Given the description of an element on the screen output the (x, y) to click on. 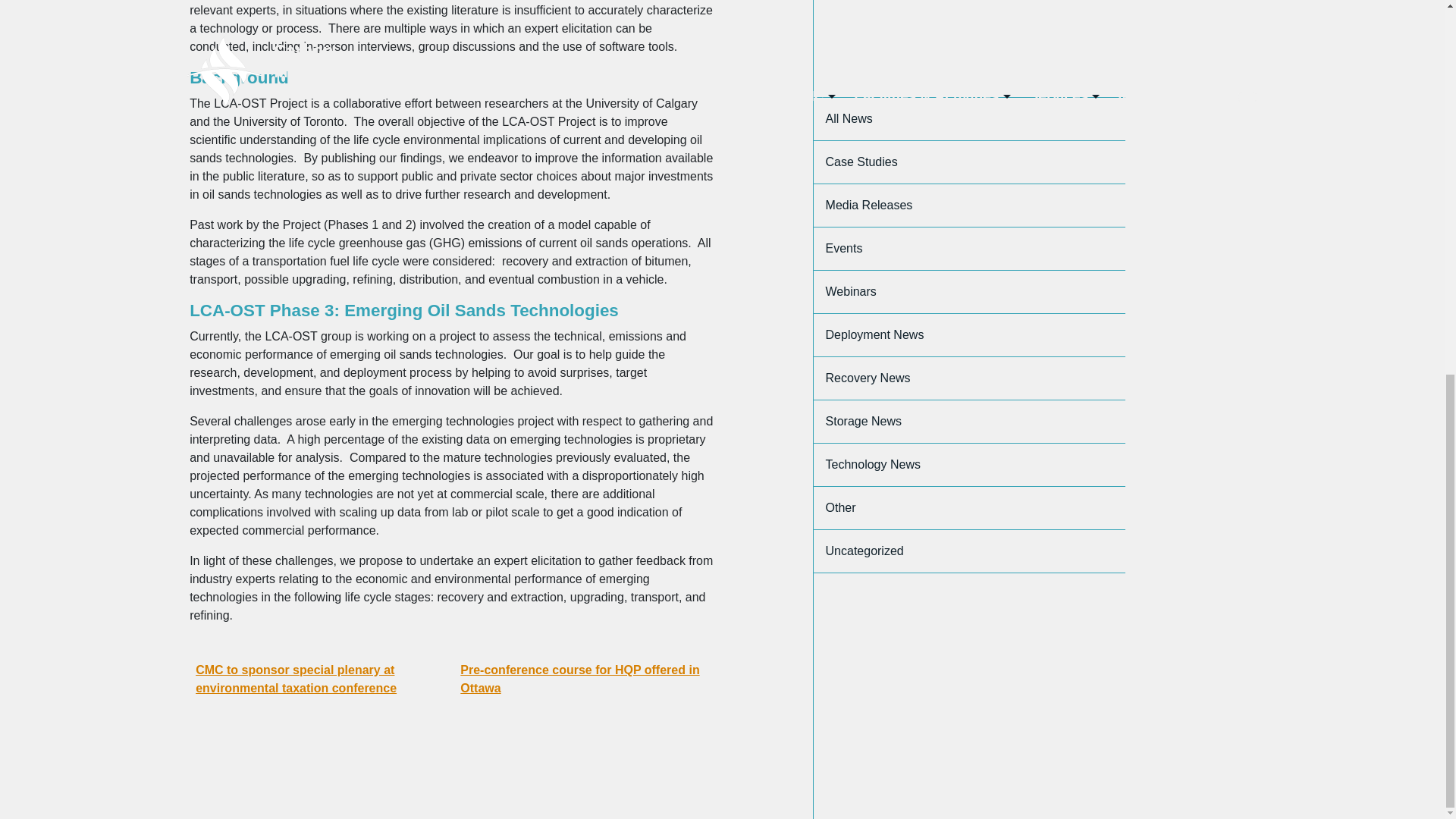
Events (969, 8)
Pre-conference course for HQP offered in Ottawa (583, 678)
Webinars (969, 38)
Deployment News (969, 82)
